Given the description of an element on the screen output the (x, y) to click on. 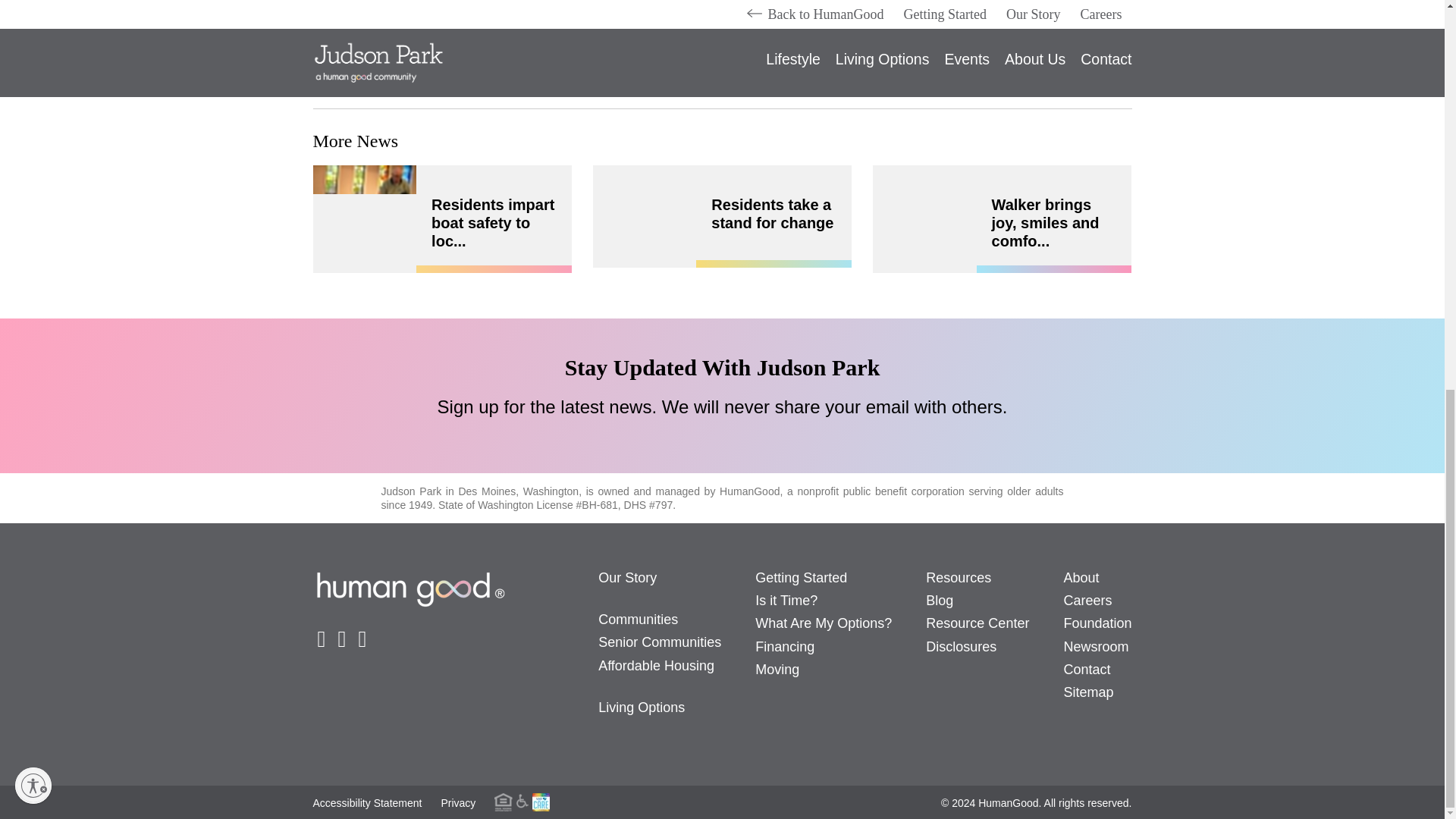
Residents take a stand for change (771, 213)
Enable accessibility (32, 43)
Walker brings joy, smiles and comfo... (1045, 222)
Residents impart boat safety to loc... (492, 222)
